Given the description of an element on the screen output the (x, y) to click on. 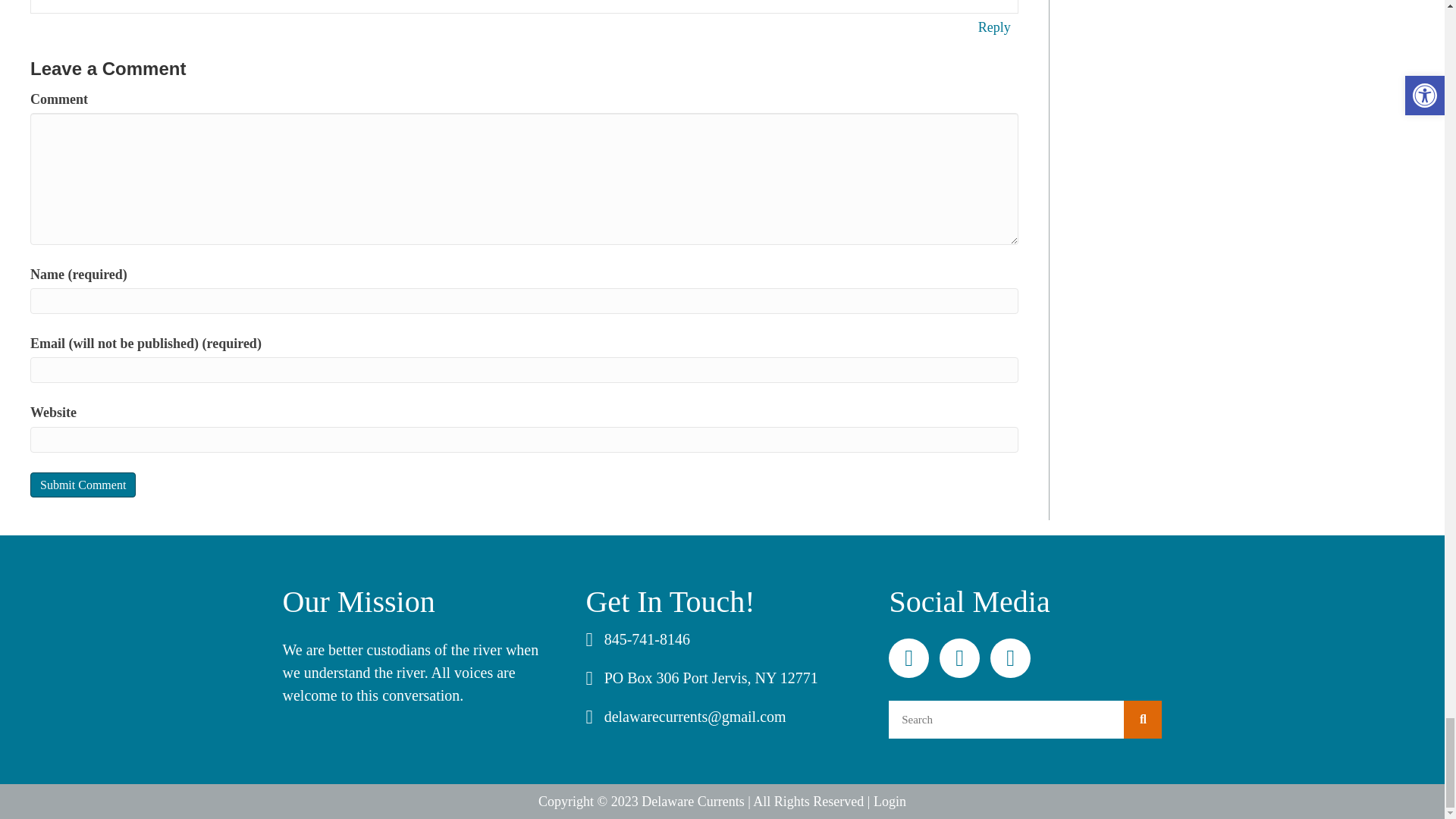
Submit Comment (82, 484)
